Given the description of an element on the screen output the (x, y) to click on. 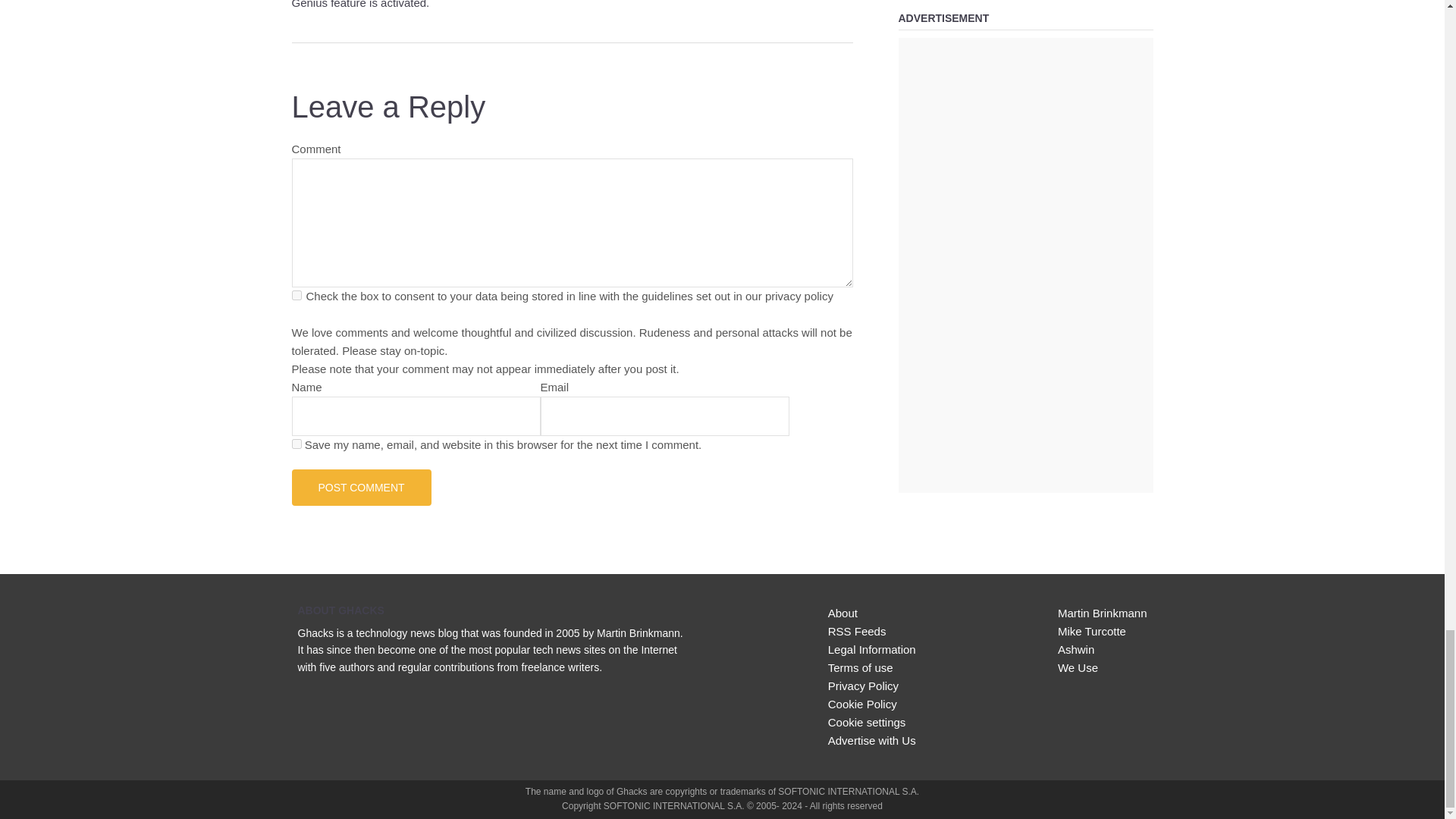
privacy-key (296, 295)
yes (296, 443)
Post Comment (360, 487)
